Given the description of an element on the screen output the (x, y) to click on. 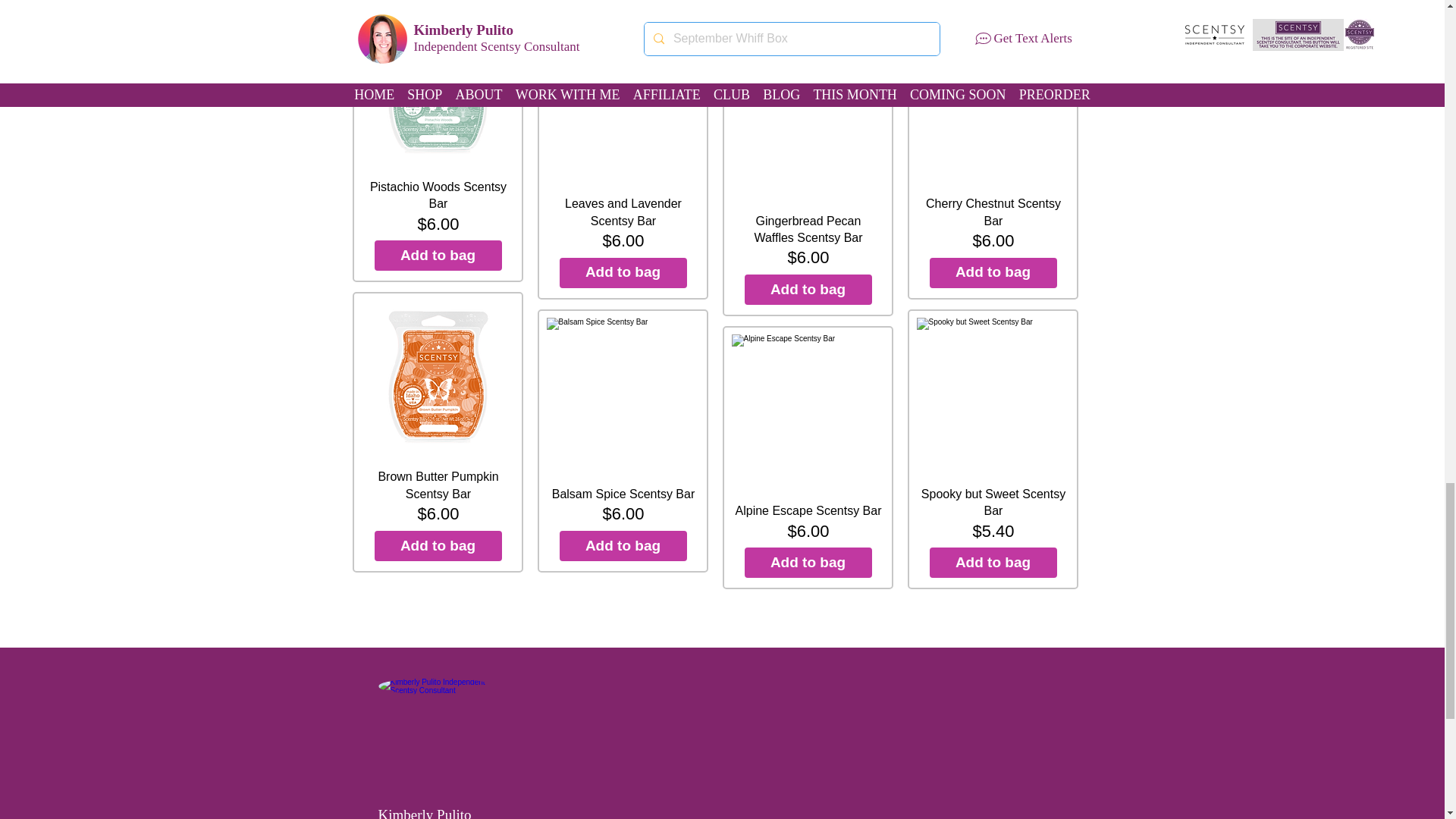
Balsam Spice Scentsy Bar (623, 394)
Add to bag (623, 272)
Brown Butter Pumpkin Scentsy Bar (438, 377)
Alpine Escape Scentsy Bar (807, 411)
Add to bag (808, 289)
Pistachio Woods Scentsy Bar (438, 87)
Add to bag (438, 545)
Gingerbread Pecan Waffles Scentsy Bar (807, 122)
Add to bag (993, 272)
Leaves and Lavender Scentsy Bar (623, 103)
